Given the description of an element on the screen output the (x, y) to click on. 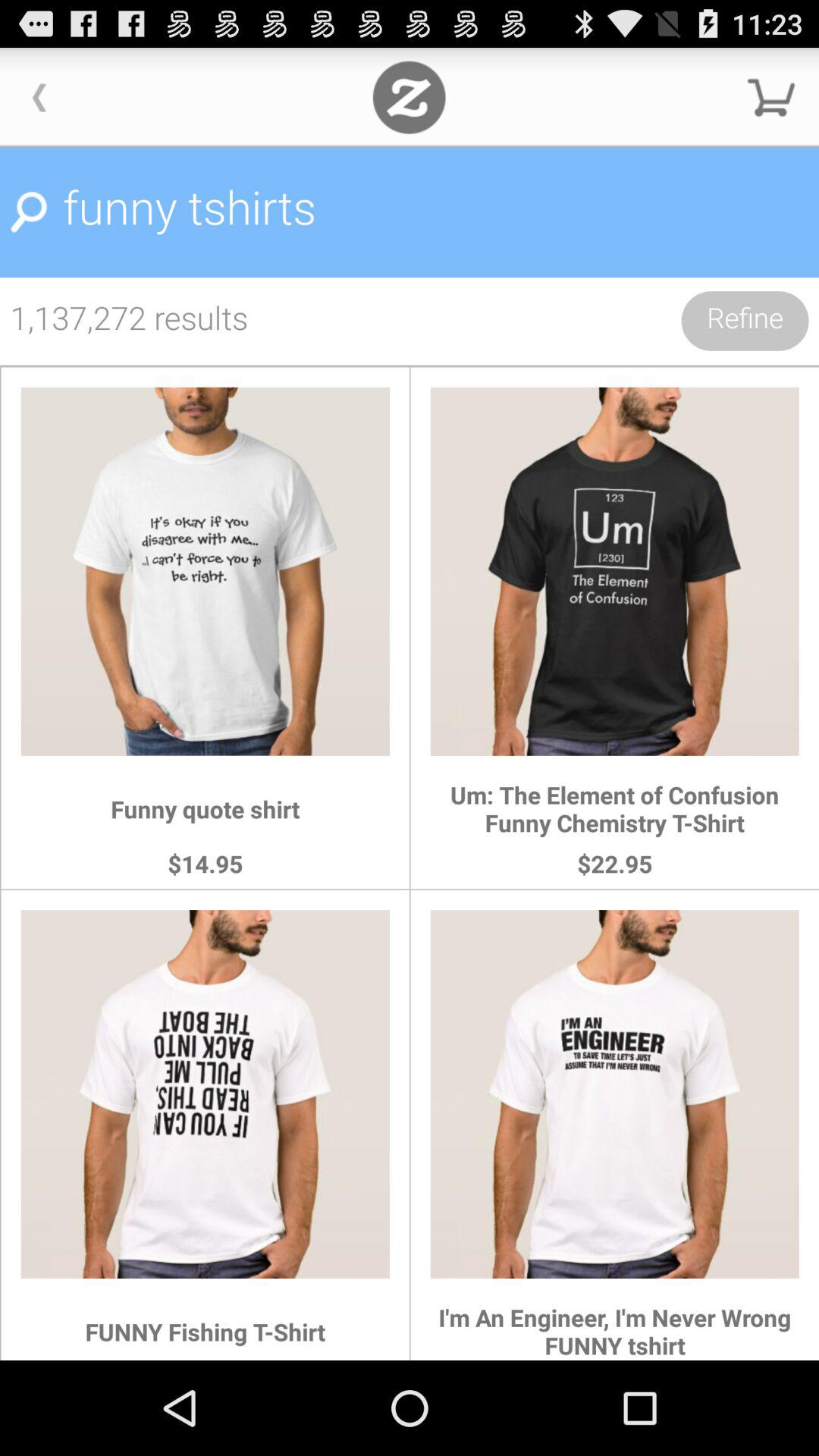
a place to view shopping cart (771, 97)
